Given the description of an element on the screen output the (x, y) to click on. 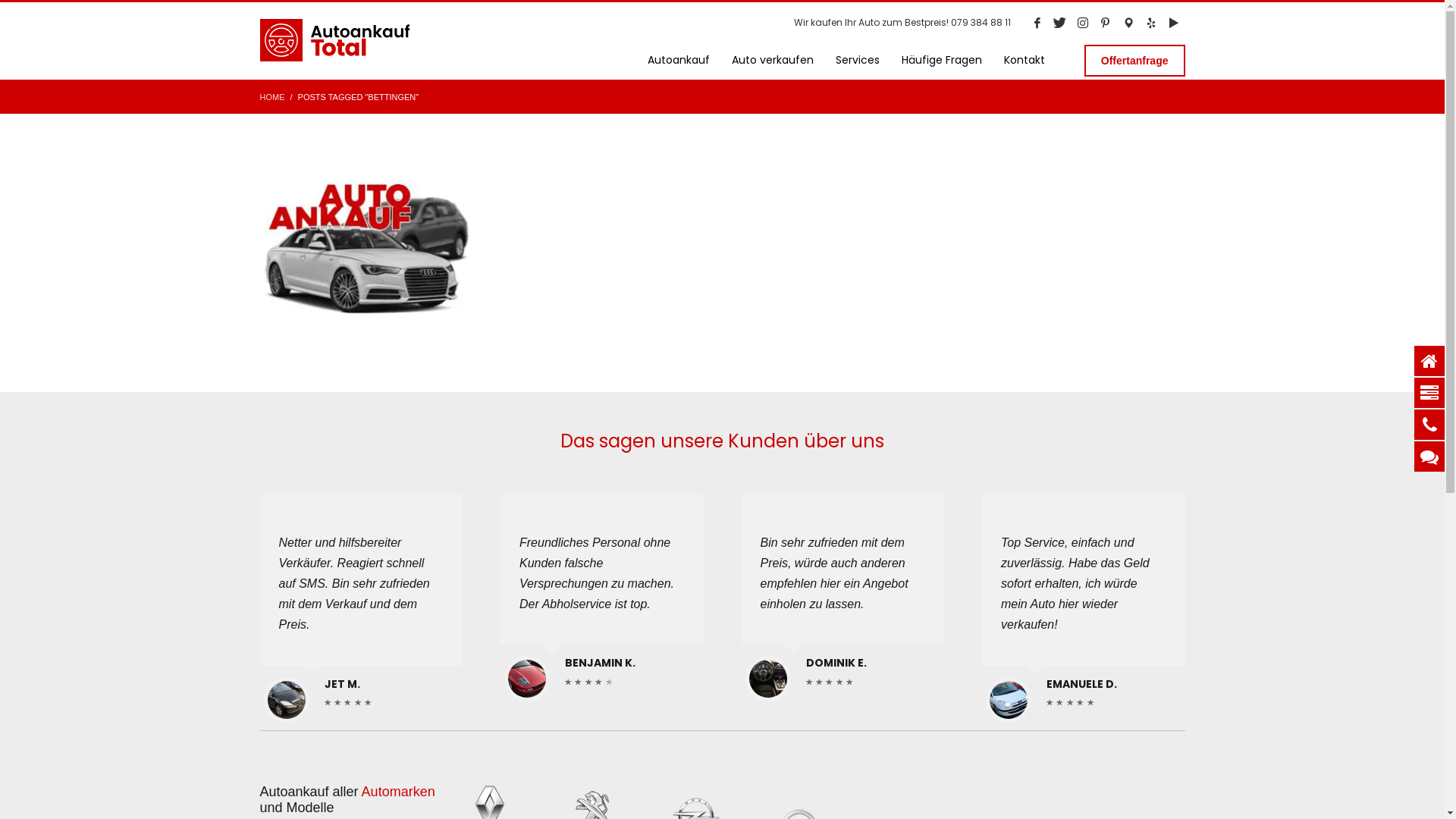
Autoankauf Total - Twitter Element type: hover (1059, 22)
Autoankauf Total - vSchweiz Element type: hover (1127, 22)
JET-M Element type: hover (286, 698)
HOME Element type: text (271, 96)
Autoankauf Element type: text (678, 60)
BENJAMIN Element type: hover (526, 678)
Automarken Element type: text (398, 791)
EMANUELE Element type: hover (1008, 698)
DOMINIK Element type: hover (767, 678)
Auto Ankauf Element type: hover (366, 240)
Kontakt Element type: text (1024, 60)
Offertanfrage Element type: text (1134, 59)
Services Element type: text (857, 60)
Autoankauf Total | Youtube Element type: hover (1172, 22)
Autoankauf Total - Pinterest Element type: hover (1104, 22)
Autoankauf Total - Facebook Element type: hover (1036, 22)
Autoankauf Total - instagram Element type: hover (1081, 22)
Autoankauf Total - Yelp Element type: hover (1150, 22)
Auto verkaufen Element type: text (772, 60)
